Given the description of an element on the screen output the (x, y) to click on. 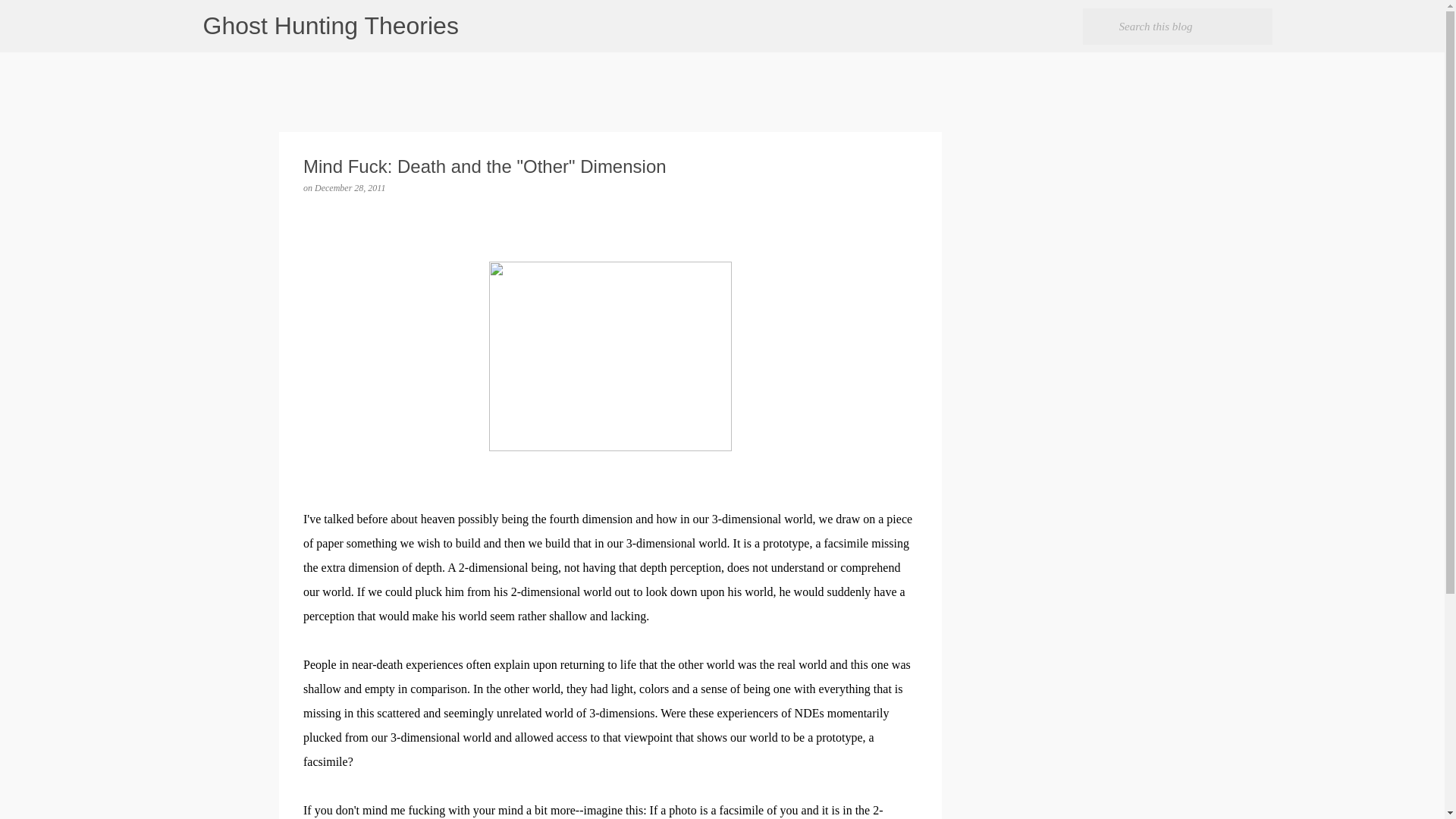
December 28, 2011 (349, 187)
Ghost Hunting Theories (330, 25)
permanent link (349, 187)
